Given the description of an element on the screen output the (x, y) to click on. 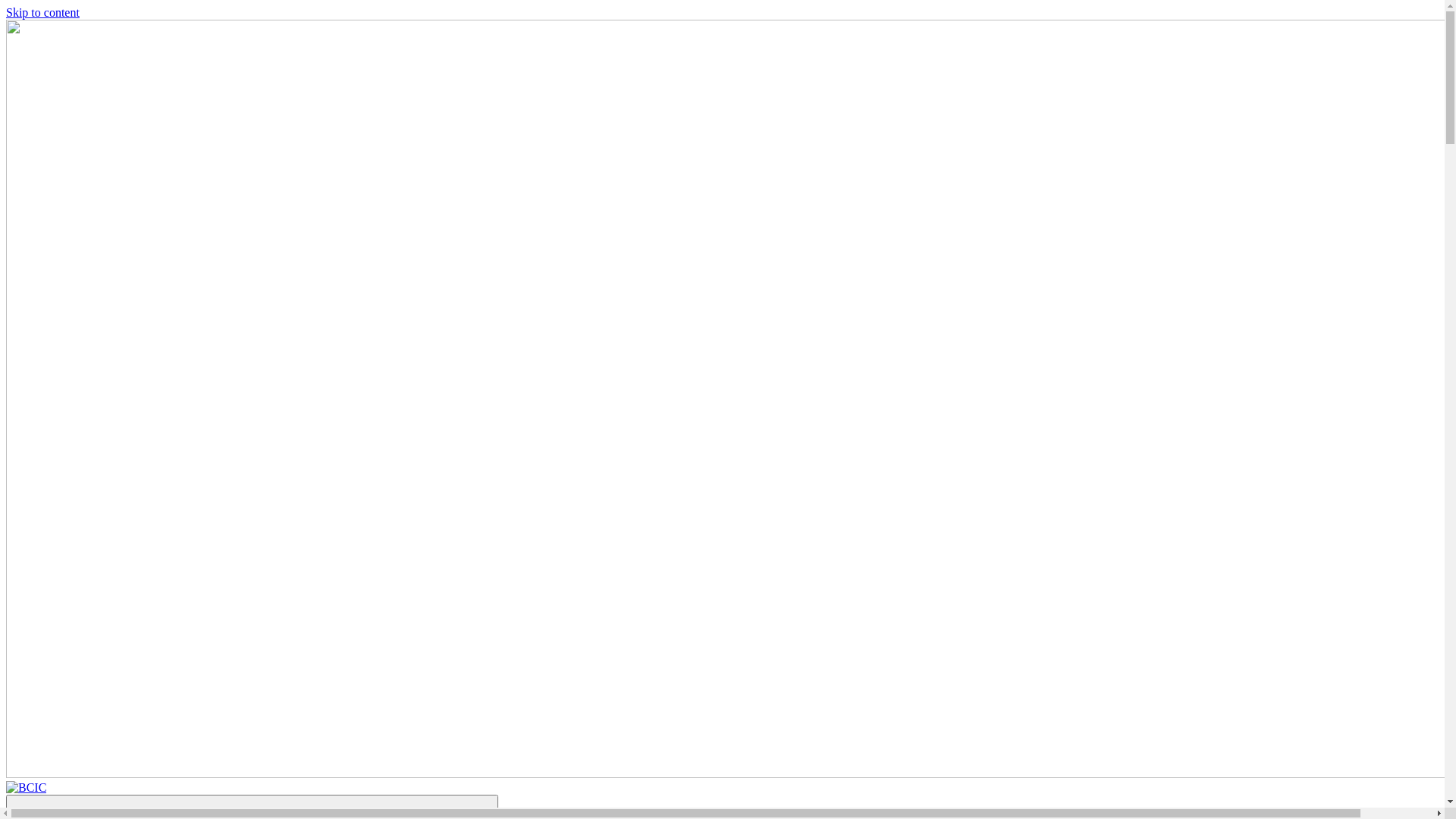
Skip to content Element type: text (42, 12)
